Given the description of an element on the screen output the (x, y) to click on. 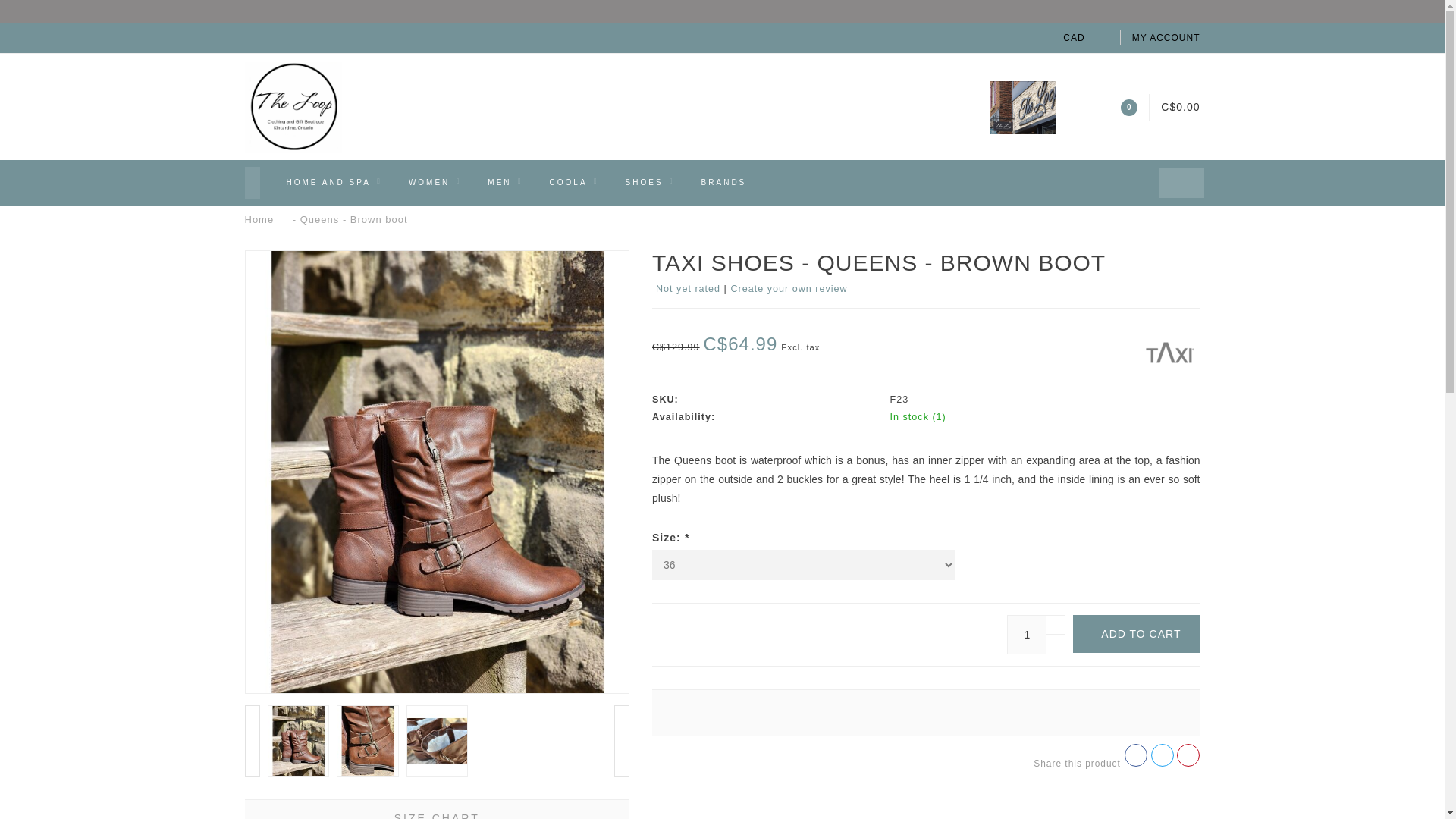
CAD (1073, 37)
HOME AND SPA (333, 182)
COOLA (574, 182)
1 (1035, 634)
MY ACCOUNT (1165, 37)
Taxi Shoes (1168, 349)
Home (258, 219)
WOMEN (435, 182)
